Given the description of an element on the screen output the (x, y) to click on. 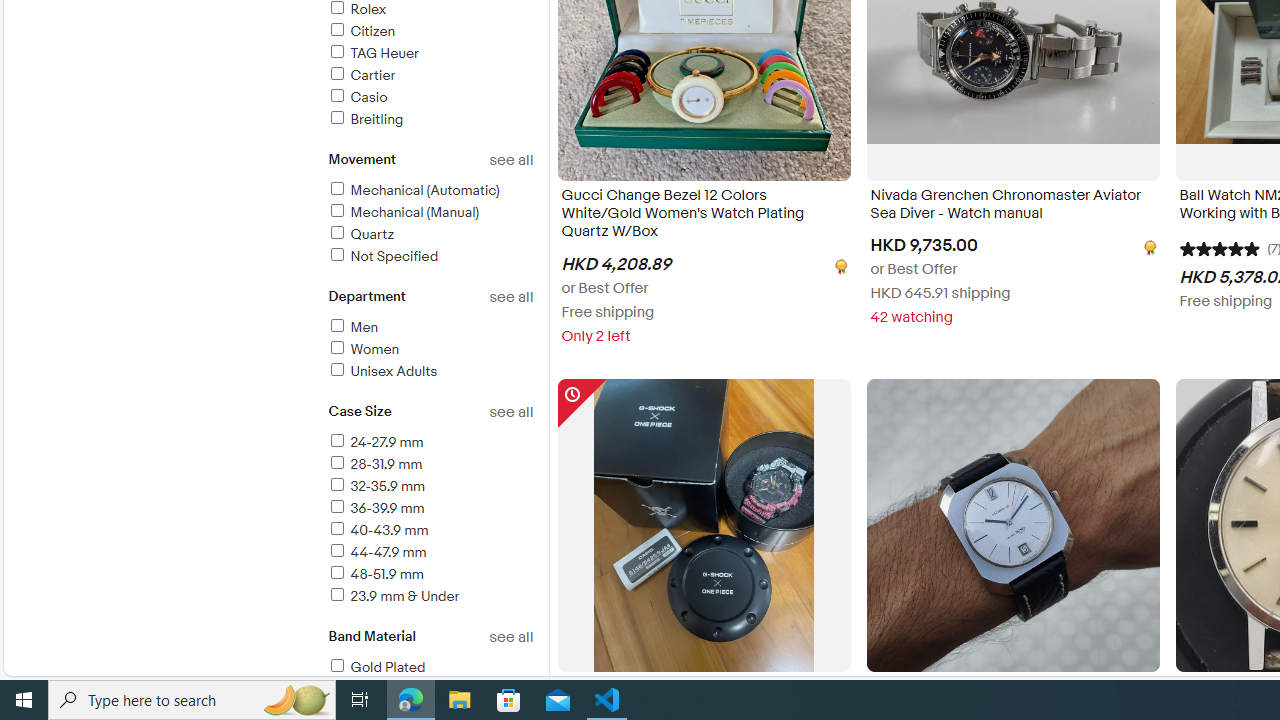
36-39.9 mm (430, 509)
Gold Plated (376, 667)
[object Undefined] (1147, 246)
24-27.9 mm (374, 442)
Cartier (430, 75)
24-27.9 mm (430, 443)
Rolex (356, 9)
Mechanical (Manual) (403, 212)
Breitling (430, 120)
Quartz (430, 235)
Citizen (360, 31)
Unisex Adults (381, 371)
44-47.9 mm (376, 552)
Mechanical (Automatic) (430, 191)
